Given the description of an element on the screen output the (x, y) to click on. 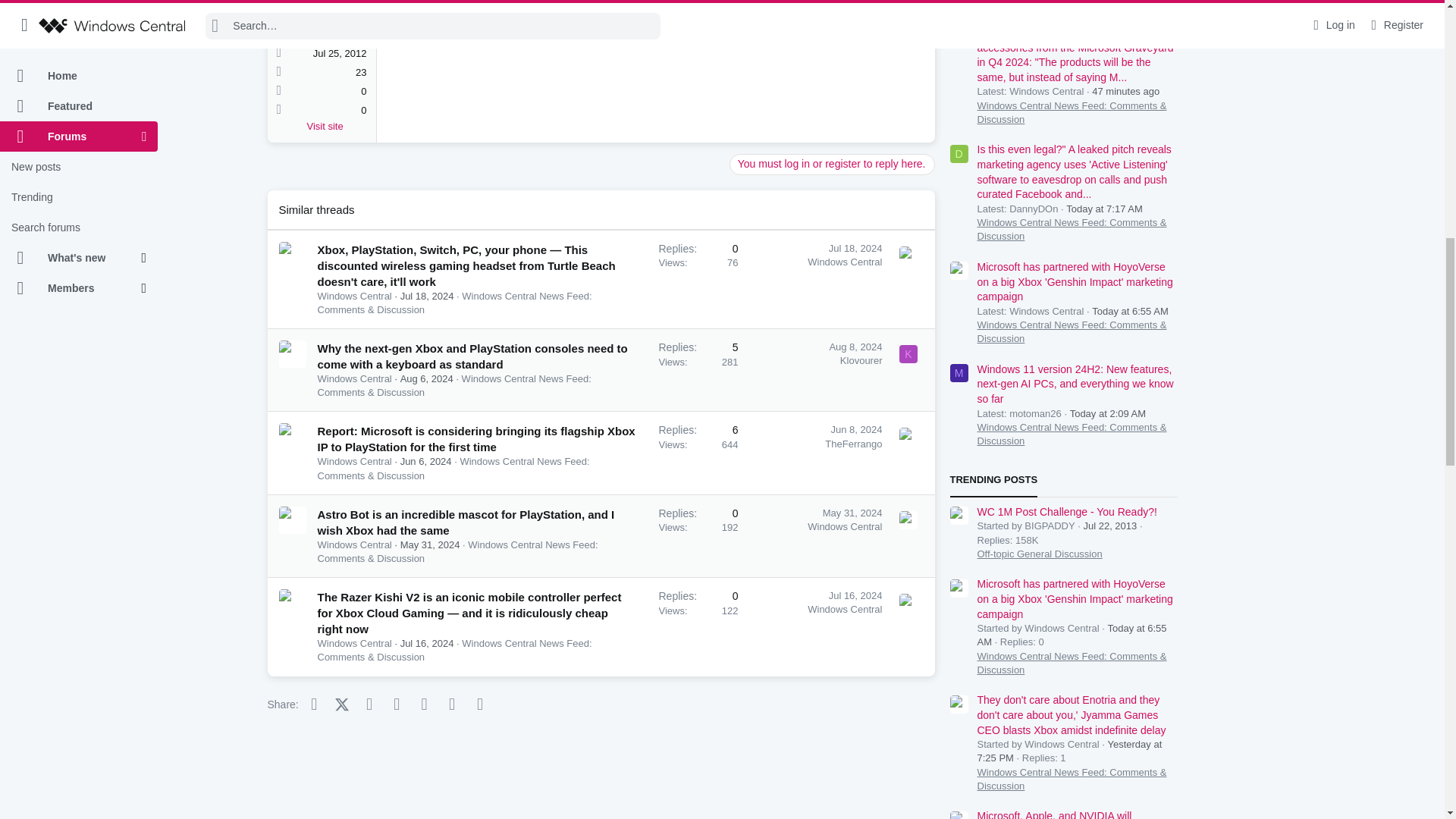
Jun 6, 2024 at 9:15 PM (425, 460)
Jul 18, 2024 at 1:30 AM (427, 296)
First message reaction score: 0 (698, 370)
Aug 6, 2024 at 6:40 PM (426, 378)
First message reaction score: 0 (698, 452)
Aug 8, 2024 at 2:27 PM (855, 346)
Jul 18, 2024 at 1:30 AM (855, 247)
First message reaction score: 0 (698, 279)
